Given the description of an element on the screen output the (x, y) to click on. 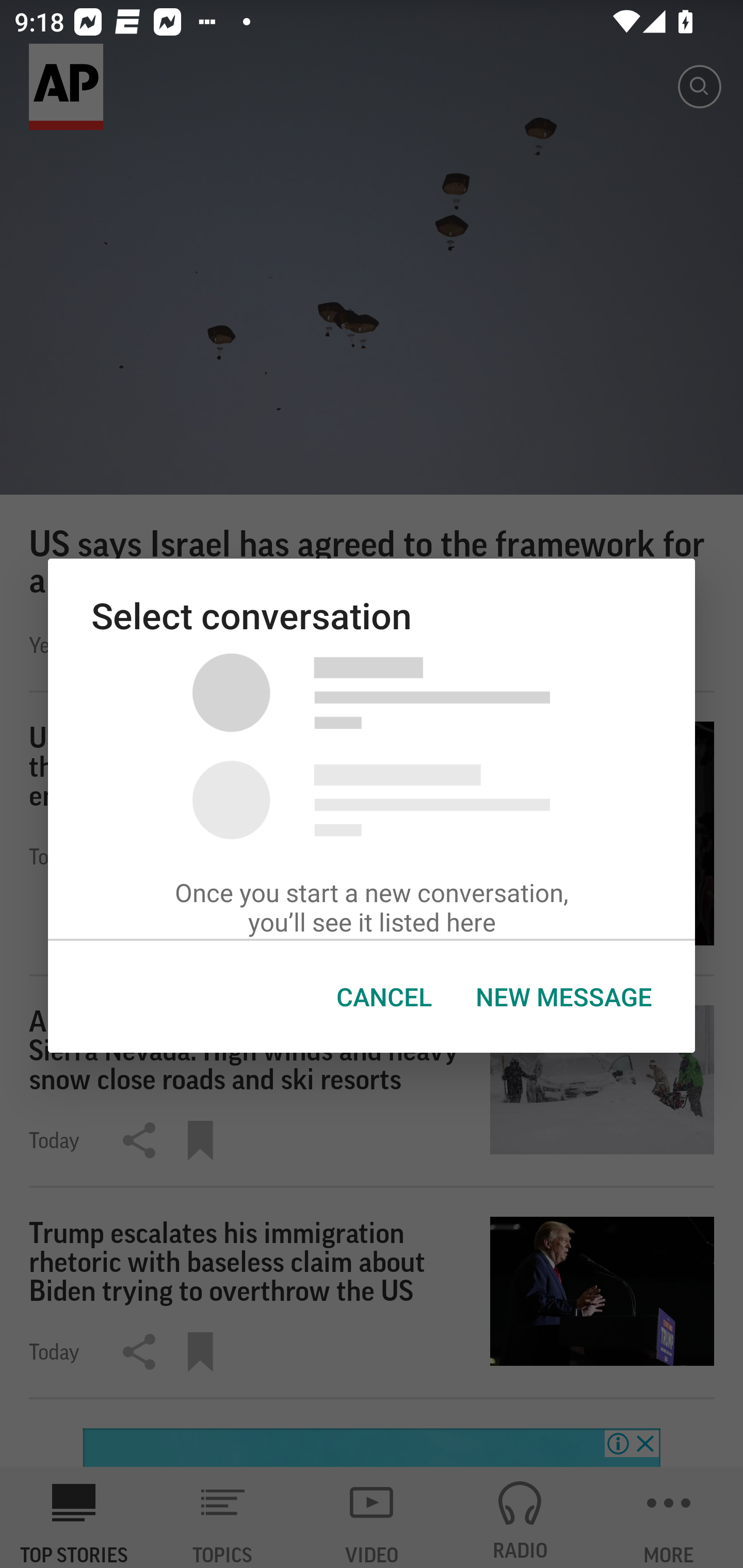
CANCEL (384, 996)
NEW MESSAGE (563, 996)
